Given the description of an element on the screen output the (x, y) to click on. 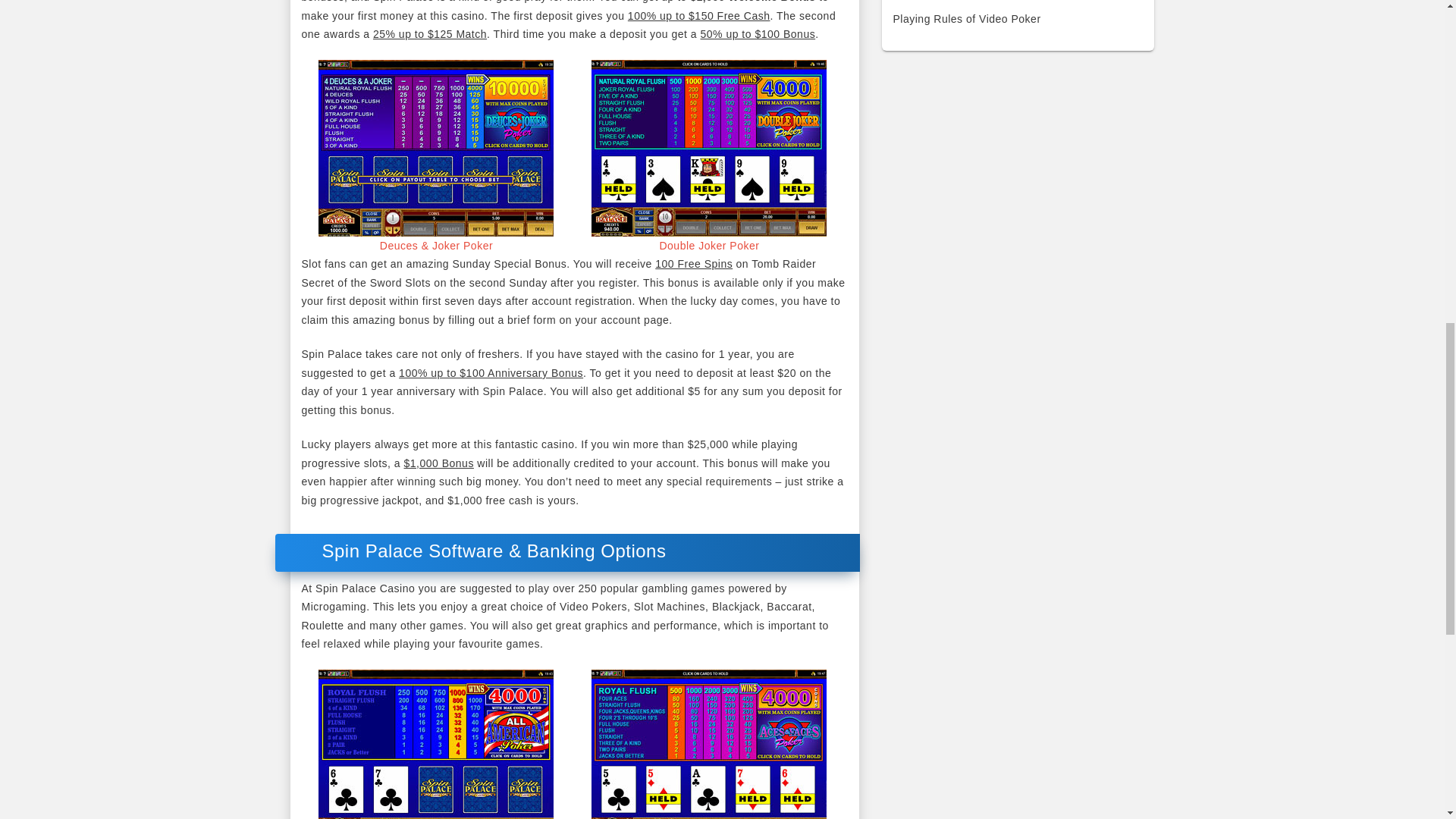
Double Joker Poker (708, 245)
